Given the description of an element on the screen output the (x, y) to click on. 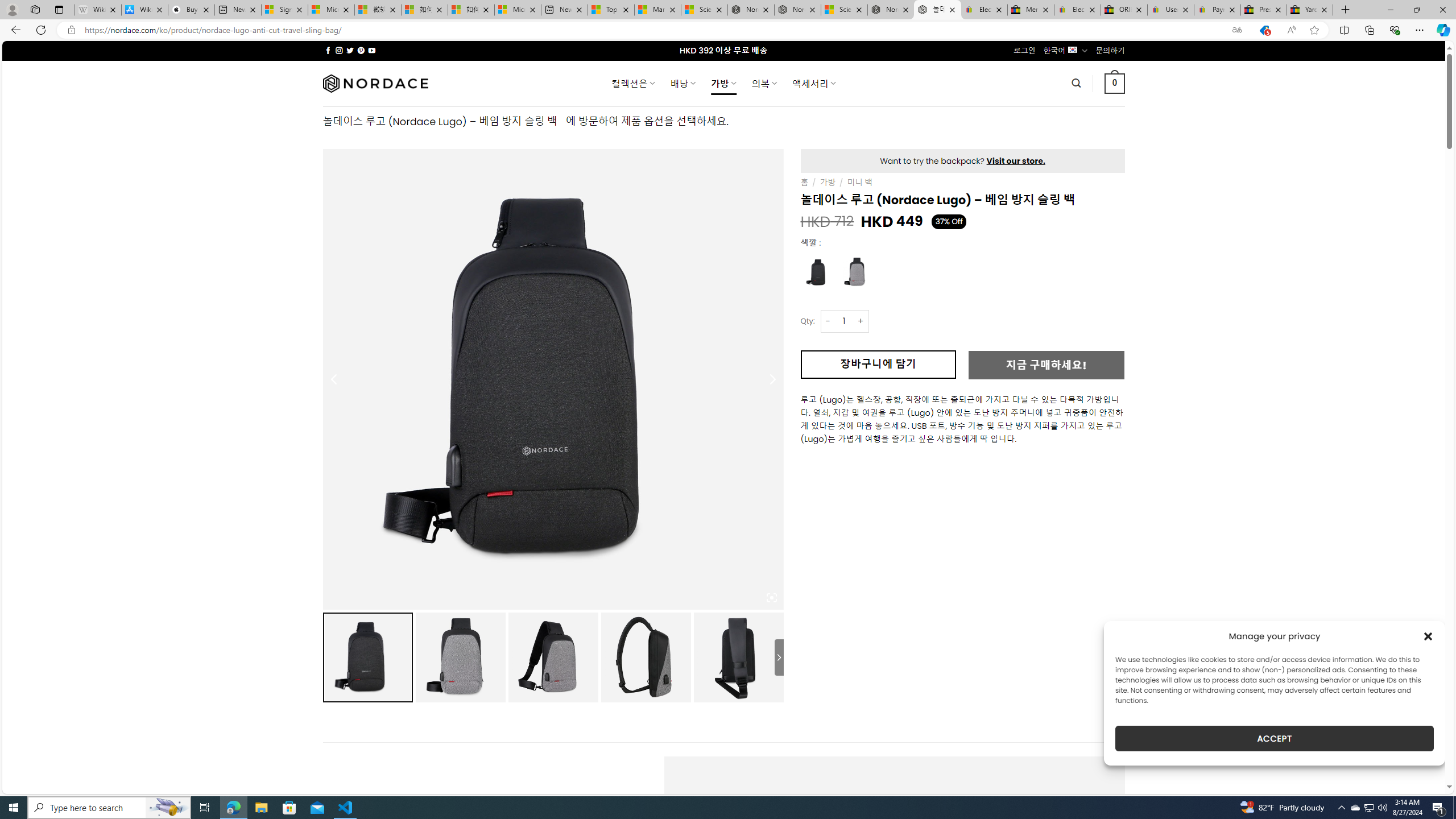
Class: cmplz-close (1428, 636)
  0   (1115, 83)
Follow on YouTube (371, 50)
